Given the description of an element on the screen output the (x, y) to click on. 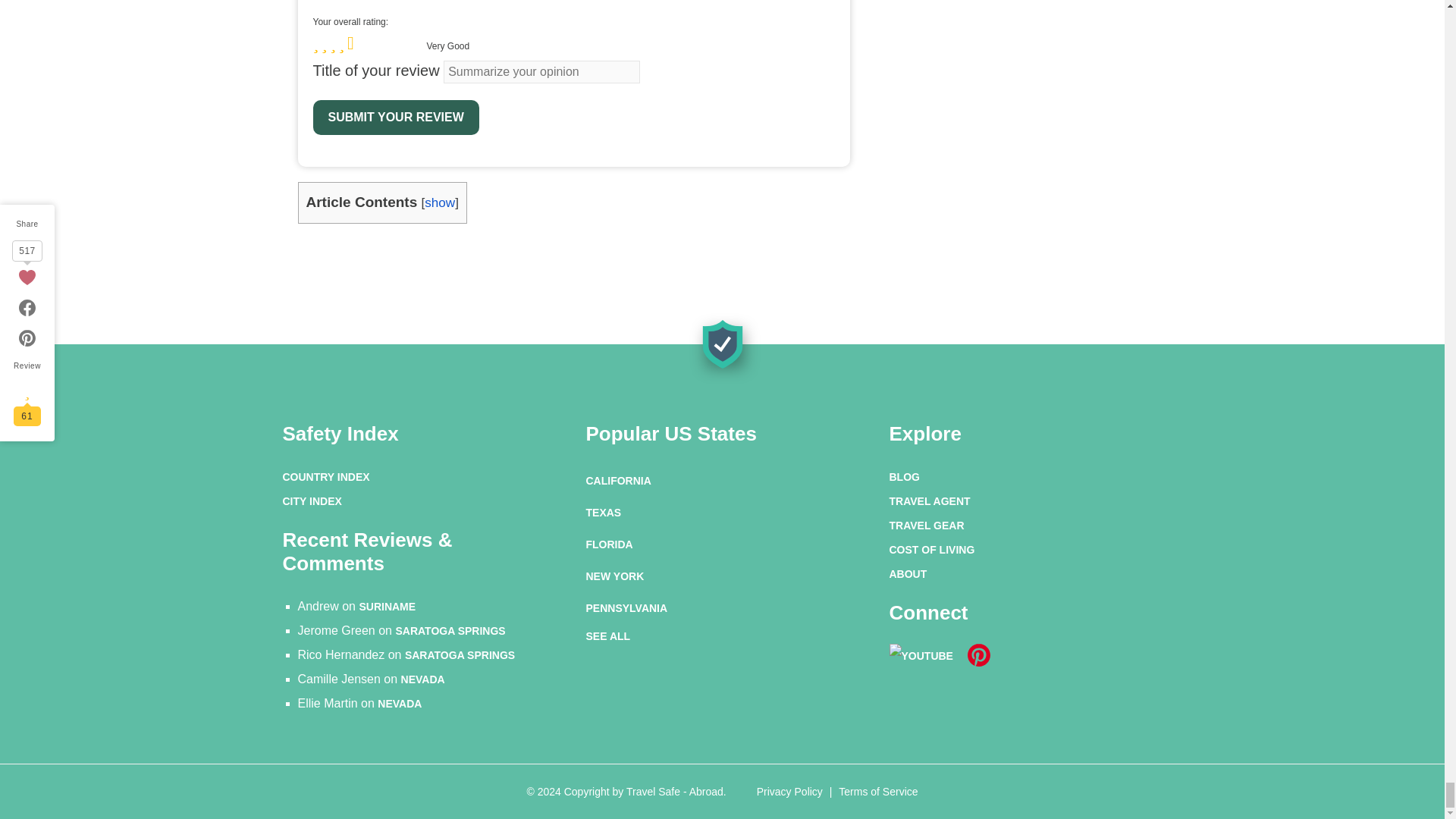
Submit Your Review (396, 117)
